Given the description of an element on the screen output the (x, y) to click on. 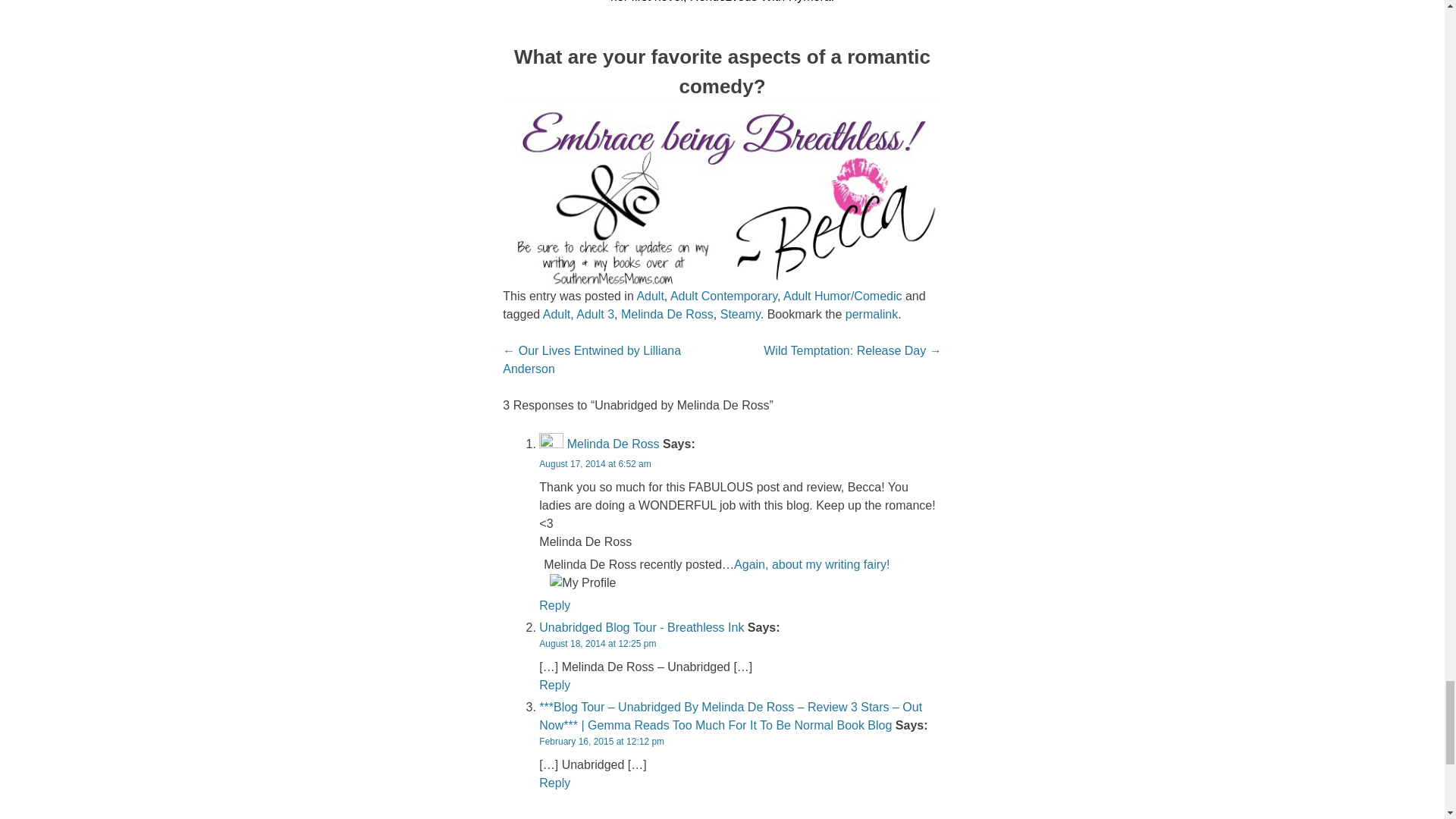
Permalink to Unabridged by Melinda De Ross (871, 314)
